Given the description of an element on the screen output the (x, y) to click on. 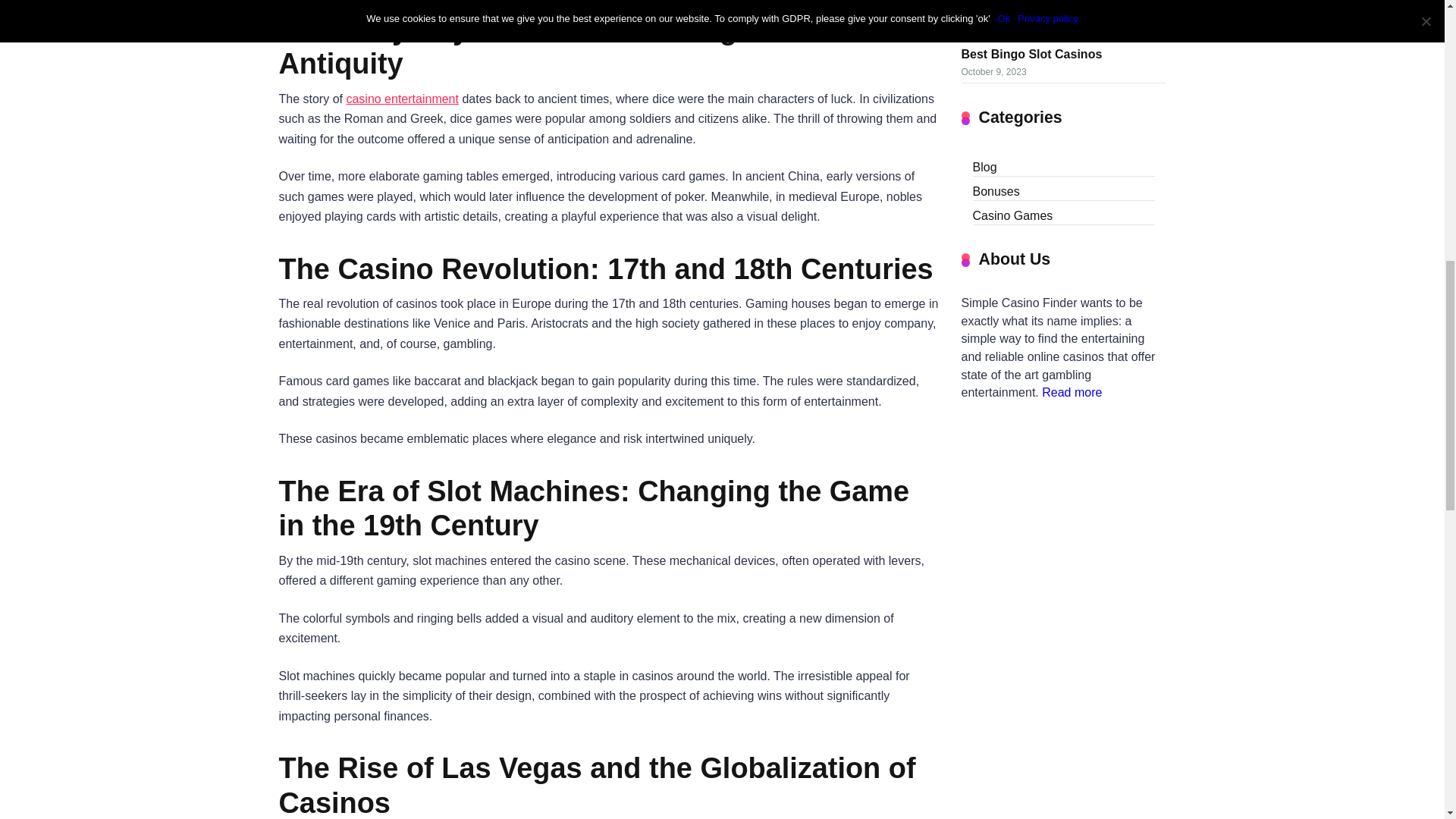
Casino Games (1012, 214)
Best Netent Casino (1016, 9)
Best Bingo Slot Casinos (1031, 52)
casino entertainment (402, 98)
Read more (1072, 391)
Blog (983, 165)
Bonuses (995, 190)
